Given the description of an element on the screen output the (x, y) to click on. 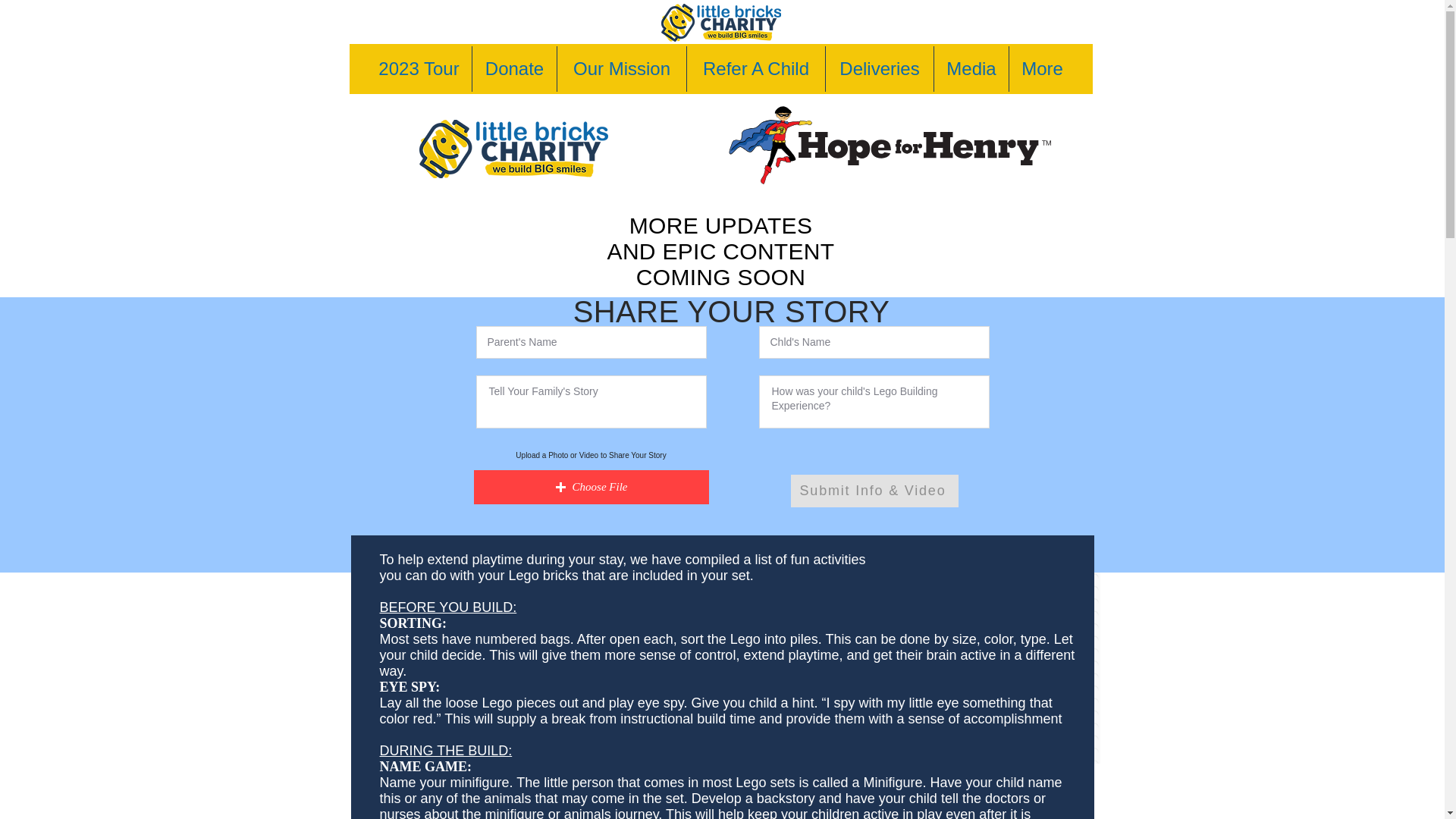
Refer A Child (756, 68)
Our Mission (621, 68)
Media (971, 68)
Deliveries (879, 68)
Donate (513, 68)
2023 Tour (418, 68)
